Given the description of an element on the screen output the (x, y) to click on. 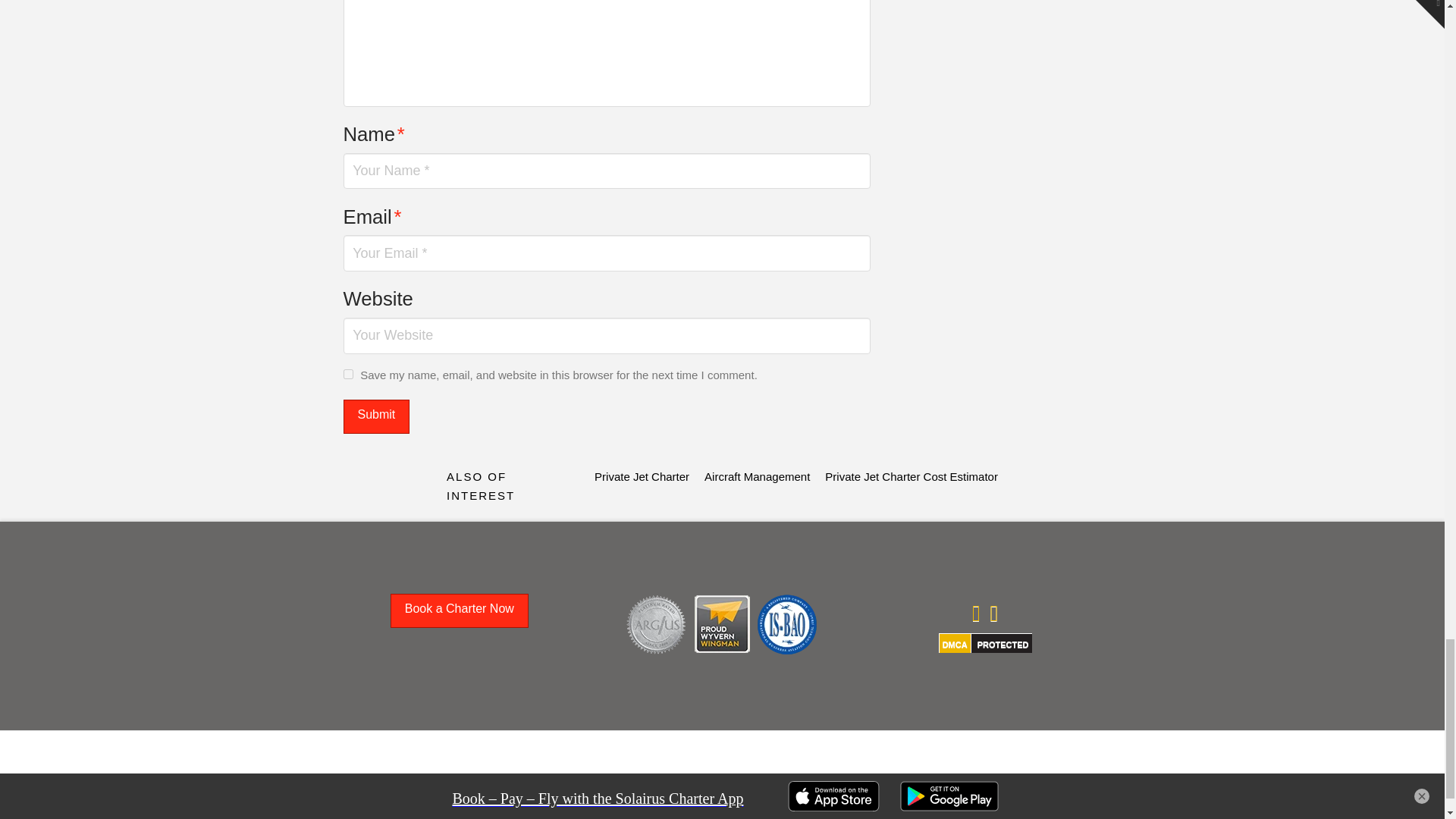
Submit (375, 416)
yes (347, 374)
